Given the description of an element on the screen output the (x, y) to click on. 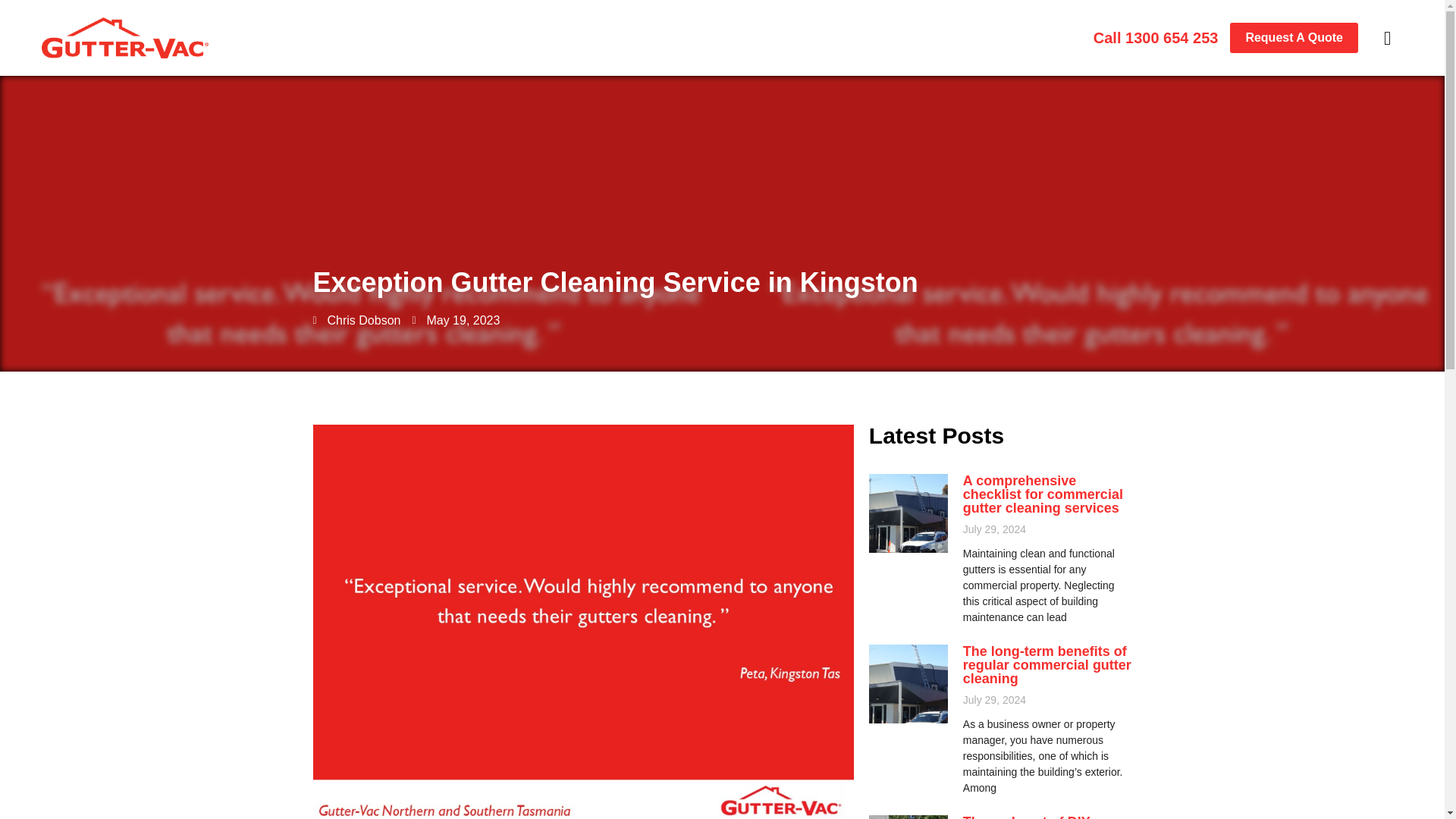
May 19, 2023 (455, 321)
Chris Dobson (356, 321)
Request A Quote (1294, 37)
Call 1300 654 253 (1155, 37)
The long-term benefits of regular commercial gutter cleaning (1046, 664)
